Given the description of an element on the screen output the (x, y) to click on. 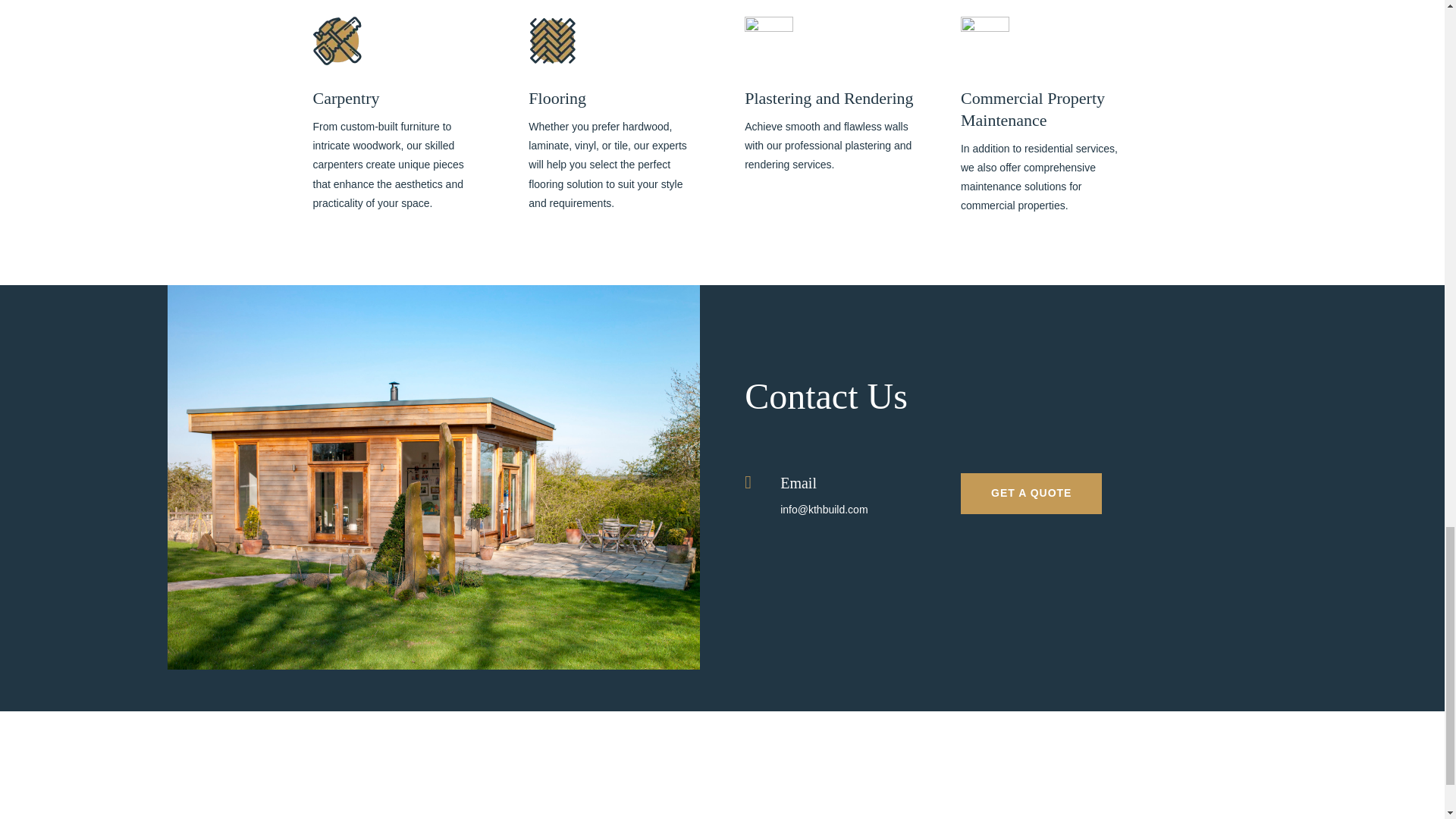
GET A QUOTE (1031, 493)
